Given the description of an element on the screen output the (x, y) to click on. 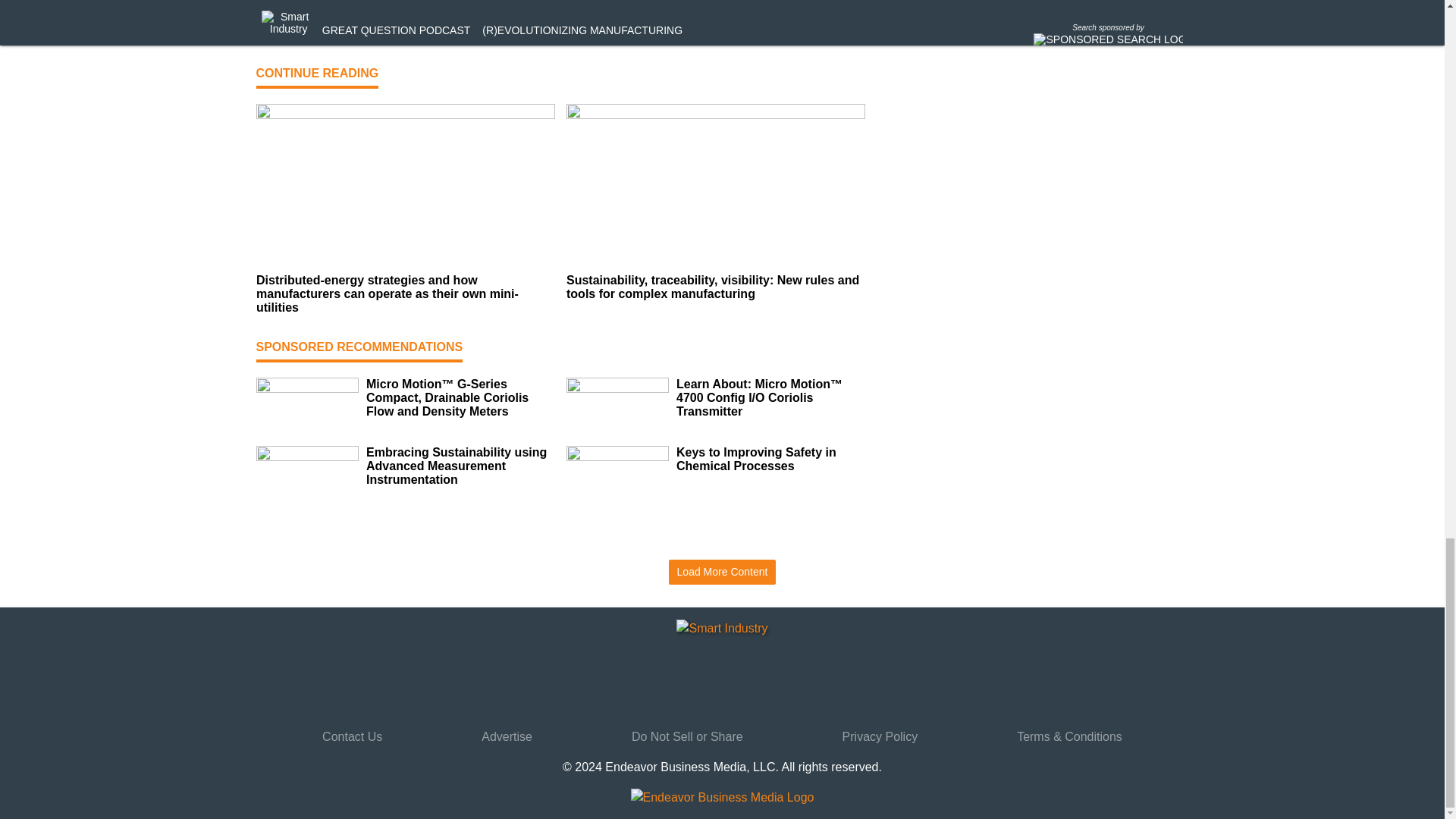
Keys to Improving Safety in Chemical Processes (770, 459)
